Given the description of an element on the screen output the (x, y) to click on. 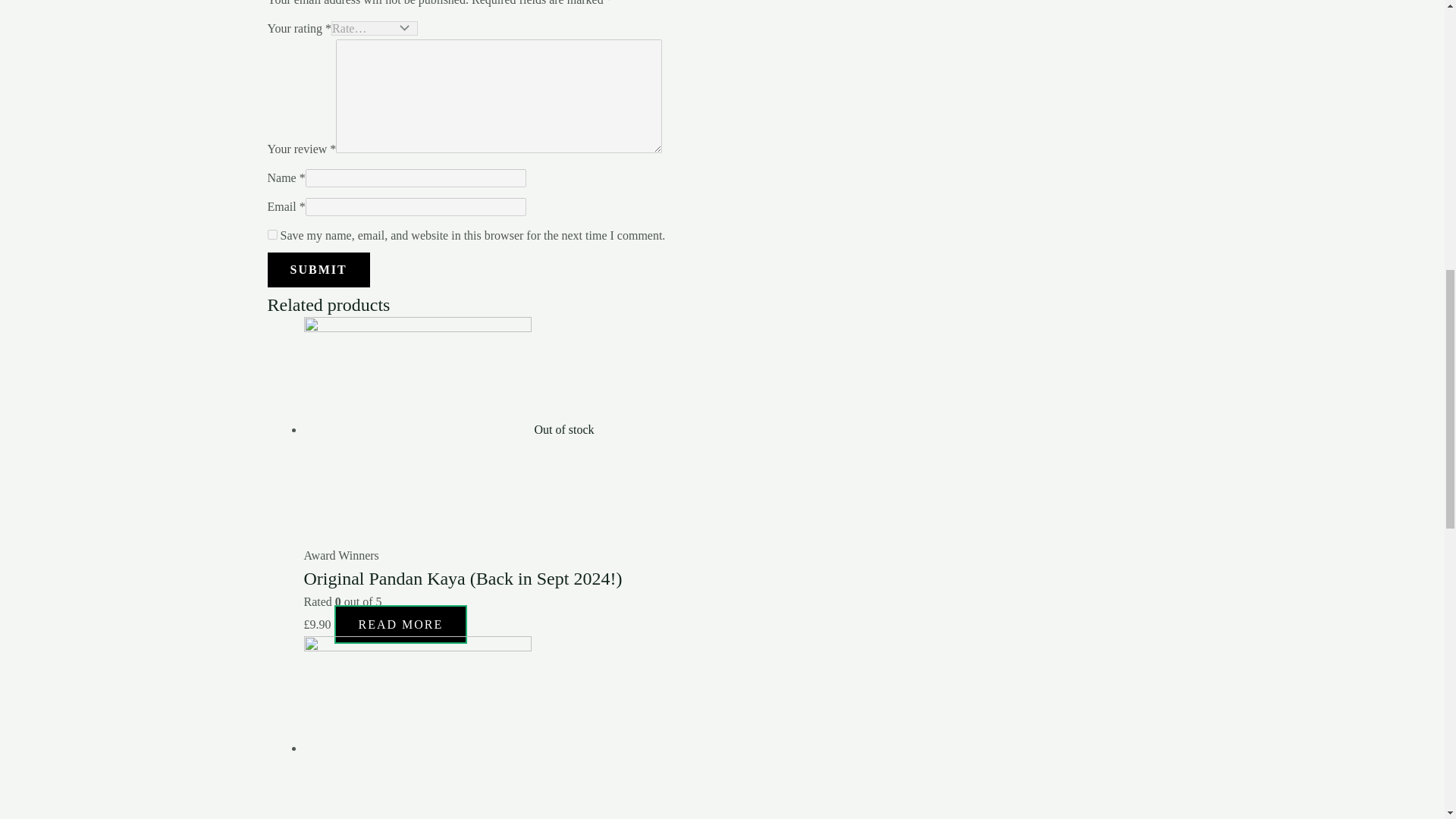
yes (271, 234)
Out of stock (448, 429)
Submit (317, 269)
Submit (317, 269)
READ MORE (400, 624)
